Given the description of an element on the screen output the (x, y) to click on. 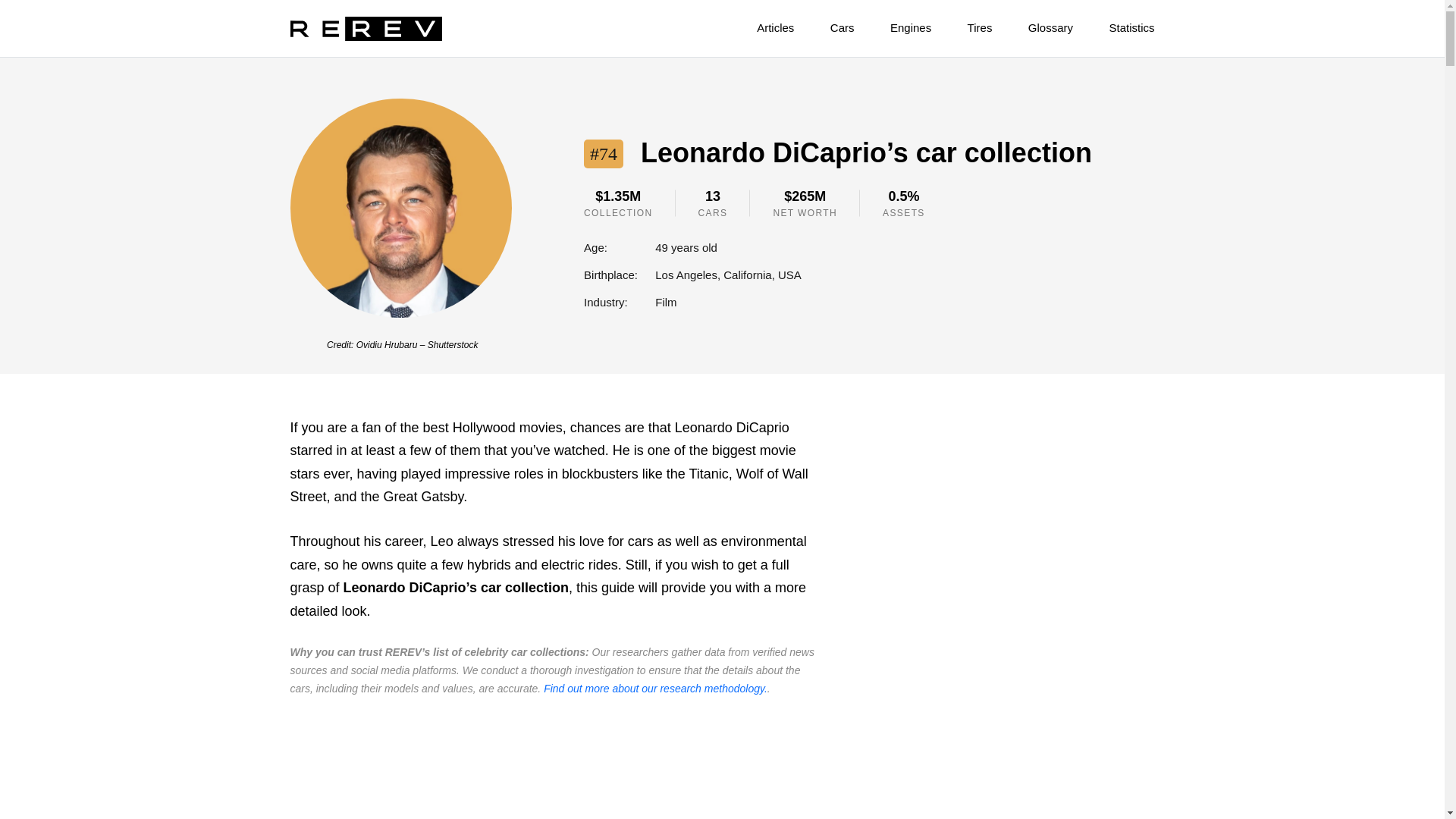
Find out more about our research methodology. (655, 688)
Glossary (1034, 24)
Articles (758, 24)
Engines (894, 24)
Cars (825, 24)
REREV (365, 28)
Statistics (1114, 24)
Tires (963, 24)
